Given the description of an element on the screen output the (x, y) to click on. 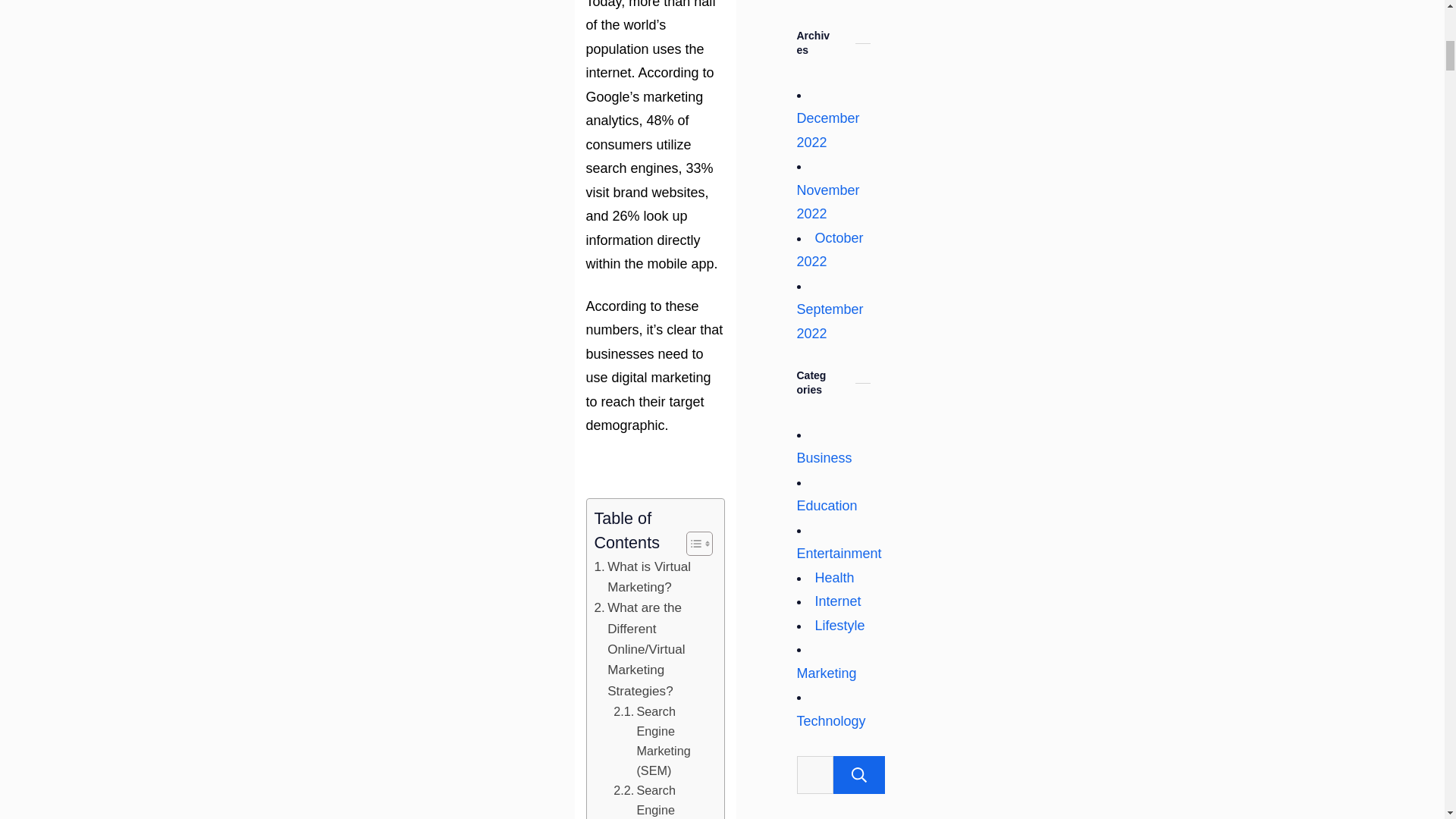
What is Virtual Marketing? (651, 577)
